Given the description of an element on the screen output the (x, y) to click on. 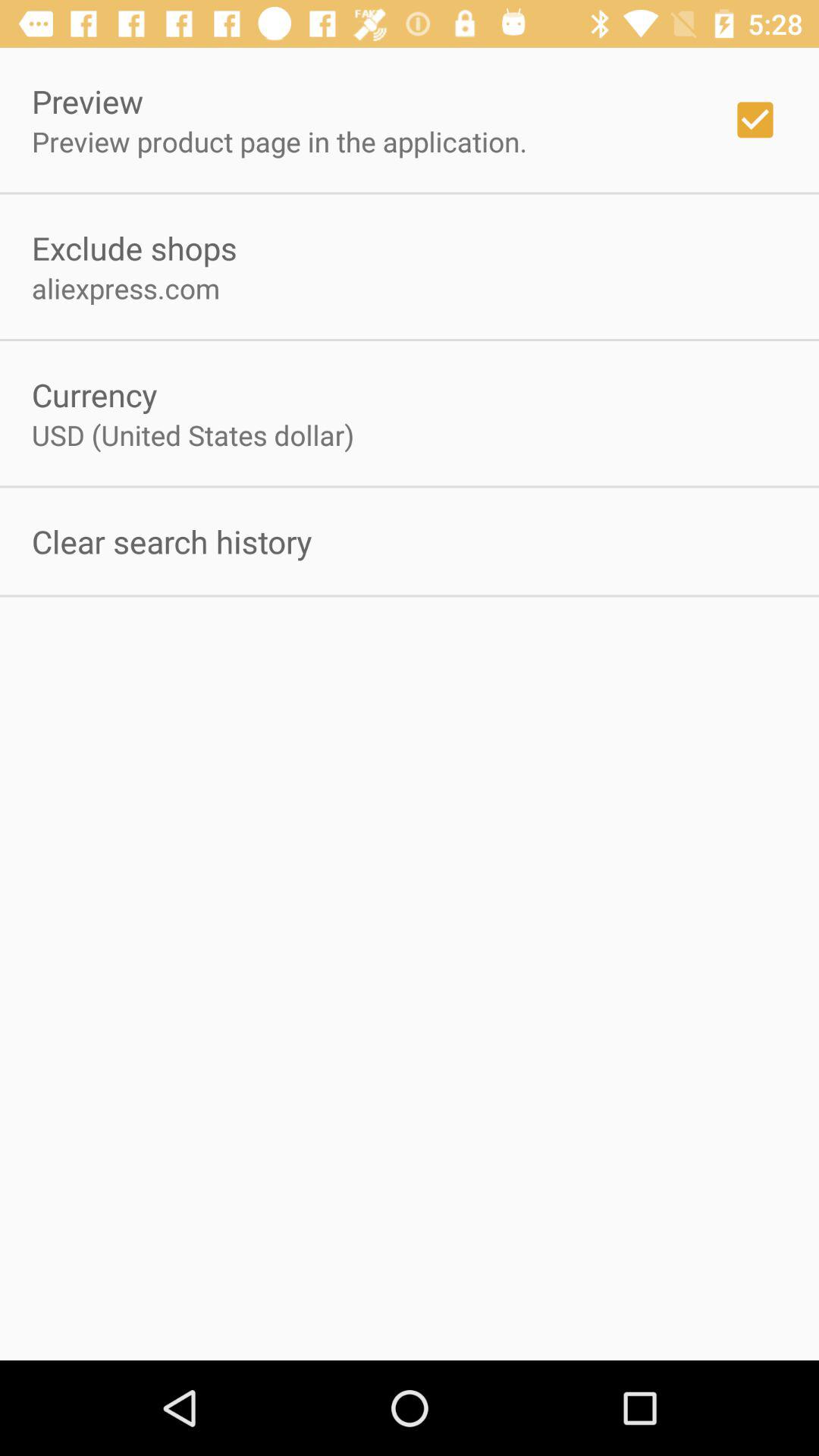
click app above the currency icon (125, 288)
